Given the description of an element on the screen output the (x, y) to click on. 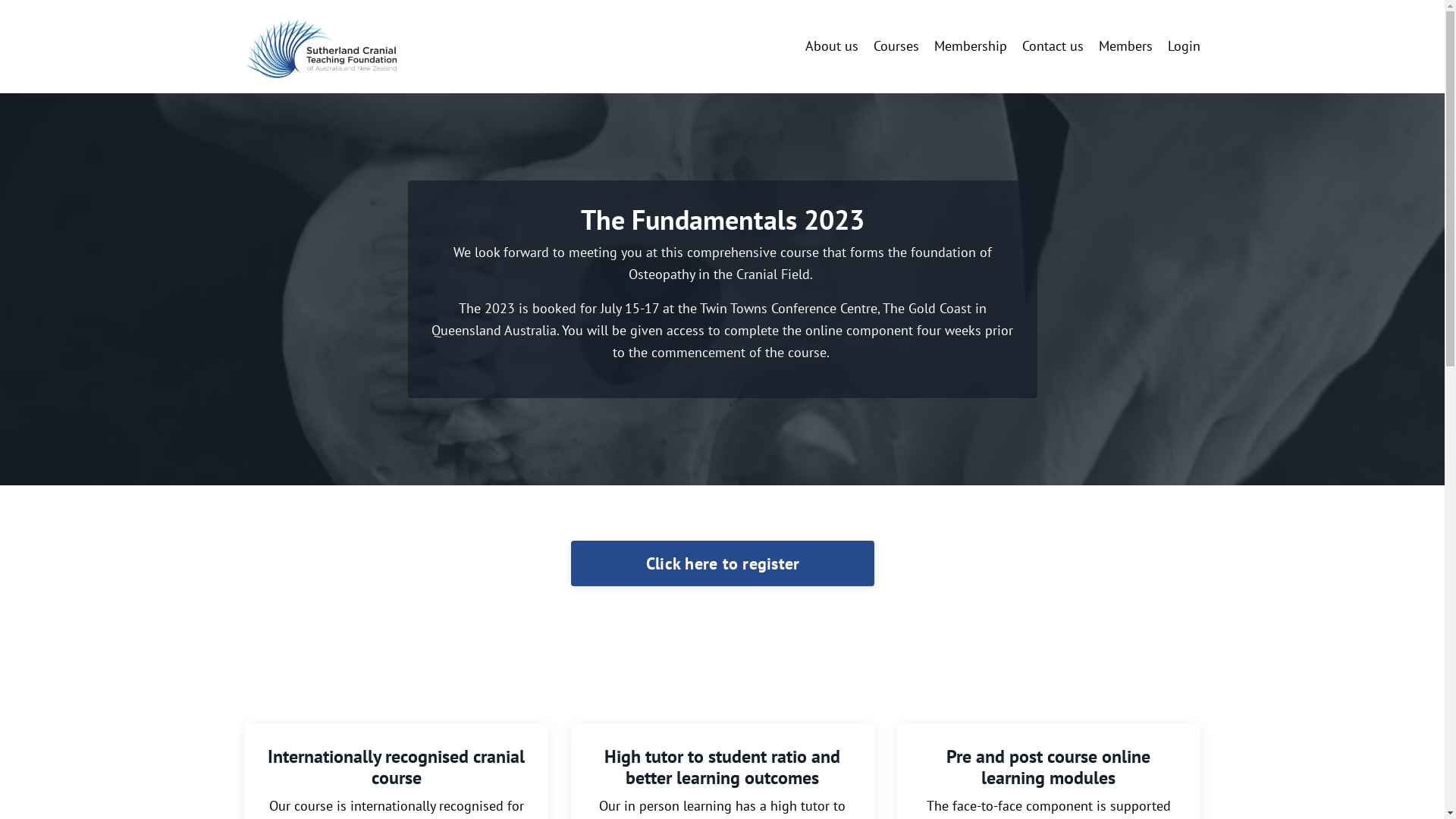
About us Element type: text (831, 46)
Login Element type: text (1183, 45)
Click here to register Element type: text (721, 563)
Membership Element type: text (970, 46)
Courses Element type: text (896, 46)
Members Element type: text (1124, 46)
Contact us Element type: text (1052, 46)
